Given the description of an element on the screen output the (x, y) to click on. 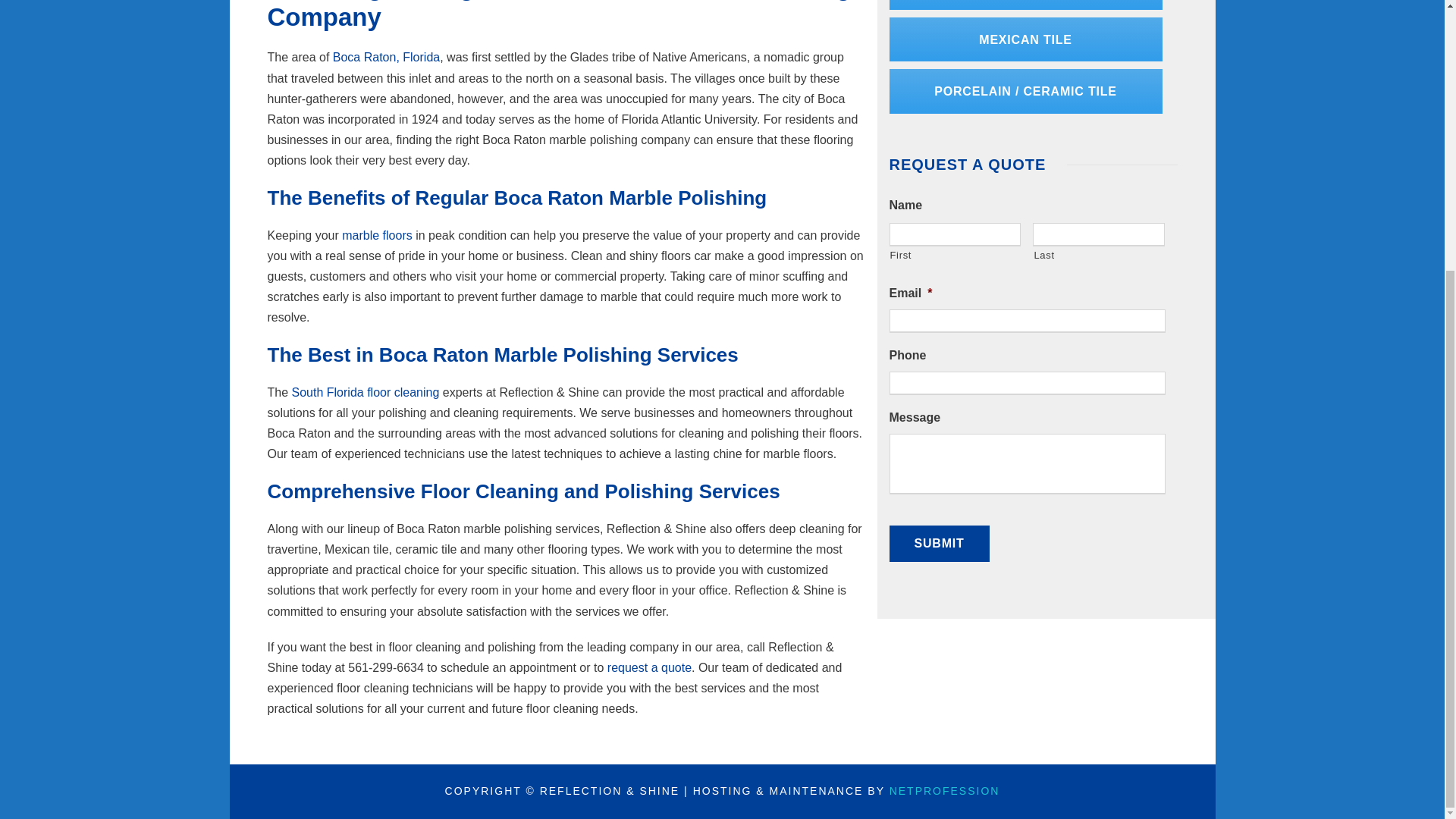
Submit (939, 543)
